Given the description of an element on the screen output the (x, y) to click on. 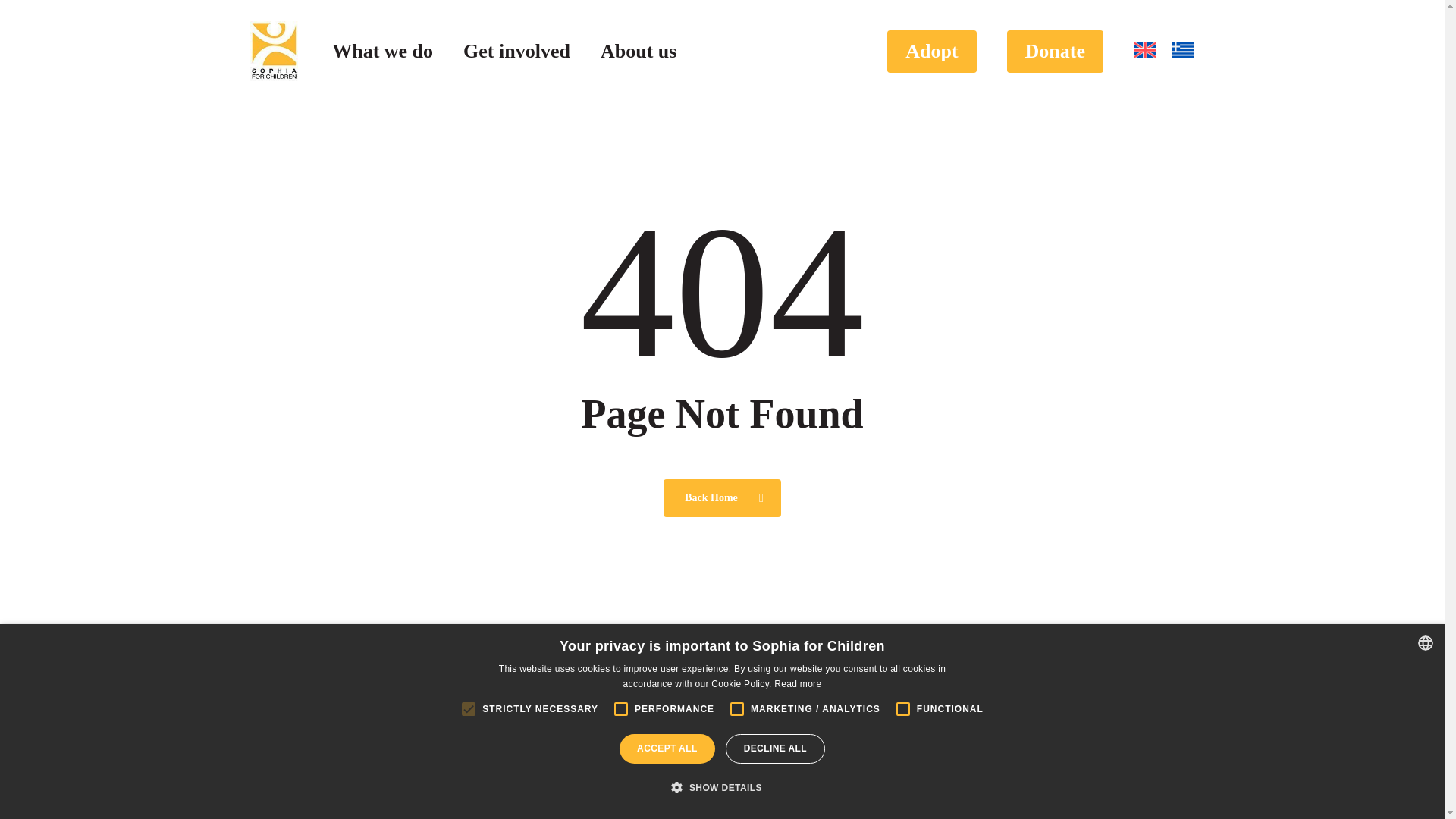
What we do (381, 51)
About us (638, 51)
Get involved (516, 51)
